Given the description of an element on the screen output the (x, y) to click on. 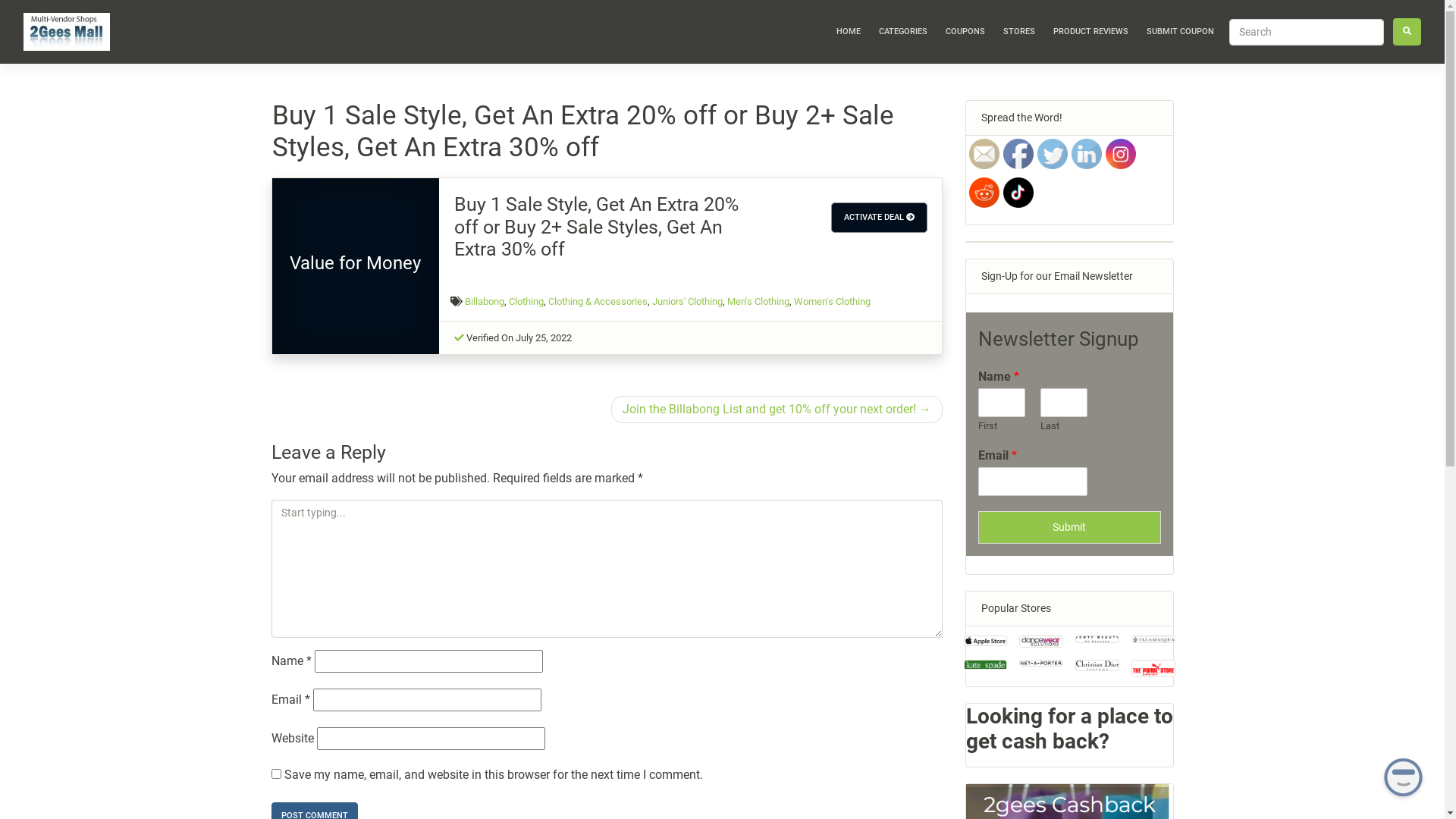
ACTIVATE DEAL Element type: text (879, 217)
Submit Element type: text (1069, 527)
STORES Element type: text (1019, 31)
LinkedIn Element type: hover (1085, 153)
COUPONS Element type: text (965, 31)
HOME Element type: text (848, 31)
Join the Billabong List and get 10% off your next order! Element type: text (776, 409)
PRODUCT REVIEWS Element type: text (1090, 31)
Clothing Element type: text (525, 301)
Follow by Email Element type: hover (984, 153)
CATEGORIES Element type: text (902, 31)
Billabong Element type: text (484, 301)
Facebook Element type: hover (1017, 153)
Juniors' Clothing Element type: text (687, 301)
Men's Clothing Element type: text (758, 301)
Twitter Element type: hover (1052, 153)
SUBMIT COUPON Element type: text (1180, 31)
Women's Clothing Element type: text (831, 301)
Instagram Element type: hover (1120, 153)
Clothing & Accessories Element type: text (597, 301)
